Given the description of an element on the screen output the (x, y) to click on. 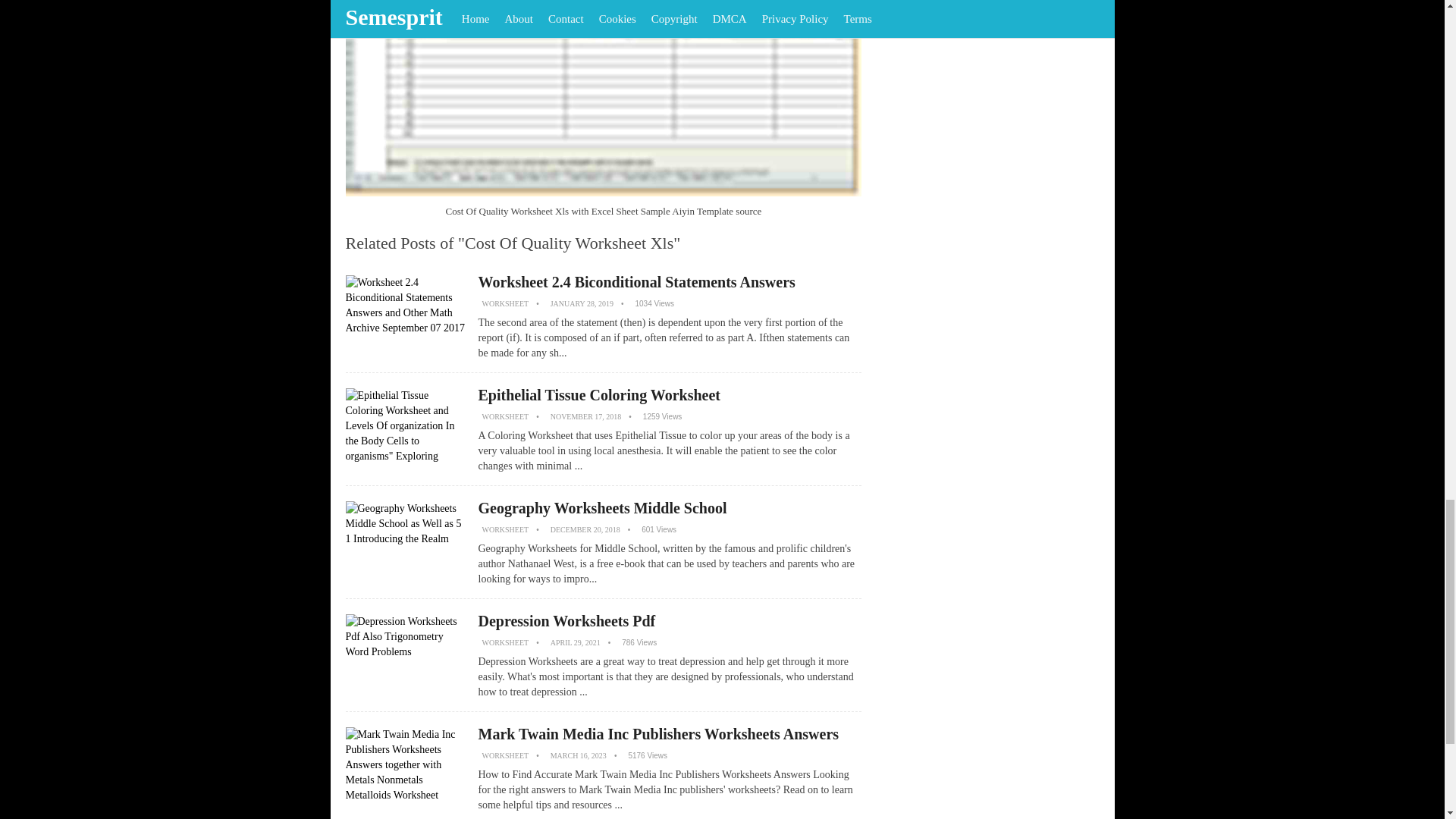
Worksheet 2.4 Biconditional Statements Answers (635, 281)
Epithelial Tissue Coloring Worksheet (598, 394)
Mark Twain Media Inc Publishers Worksheets Answers (657, 733)
Geography Worksheets Middle School (601, 507)
Depression Worksheets Pdf Also Trigonometry Word Problems (406, 659)
Depression Worksheets Pdf (566, 620)
WORKSHEET (505, 642)
Cost Of Quality Worksheet Xls 3 (603, 98)
WORKSHEET (505, 303)
WORKSHEET (505, 416)
WORKSHEET (505, 755)
